Given the description of an element on the screen output the (x, y) to click on. 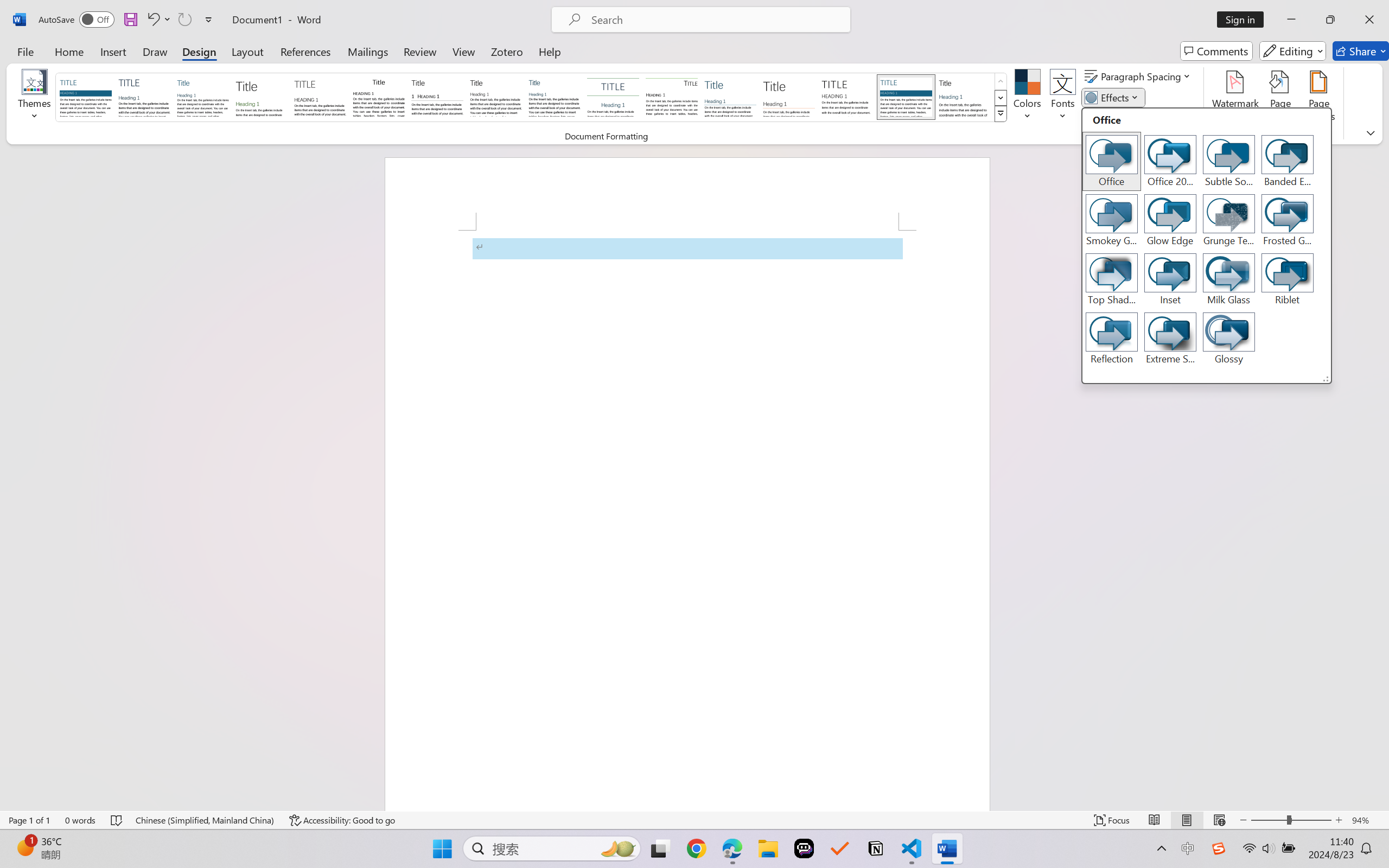
Language Chinese (Simplified, Mainland China) (205, 819)
Casual (554, 96)
Fonts (1062, 97)
Undo Apply Quick Style (152, 19)
Effects (1113, 97)
Paragraph Spacing (1139, 75)
